Given the description of an element on the screen output the (x, y) to click on. 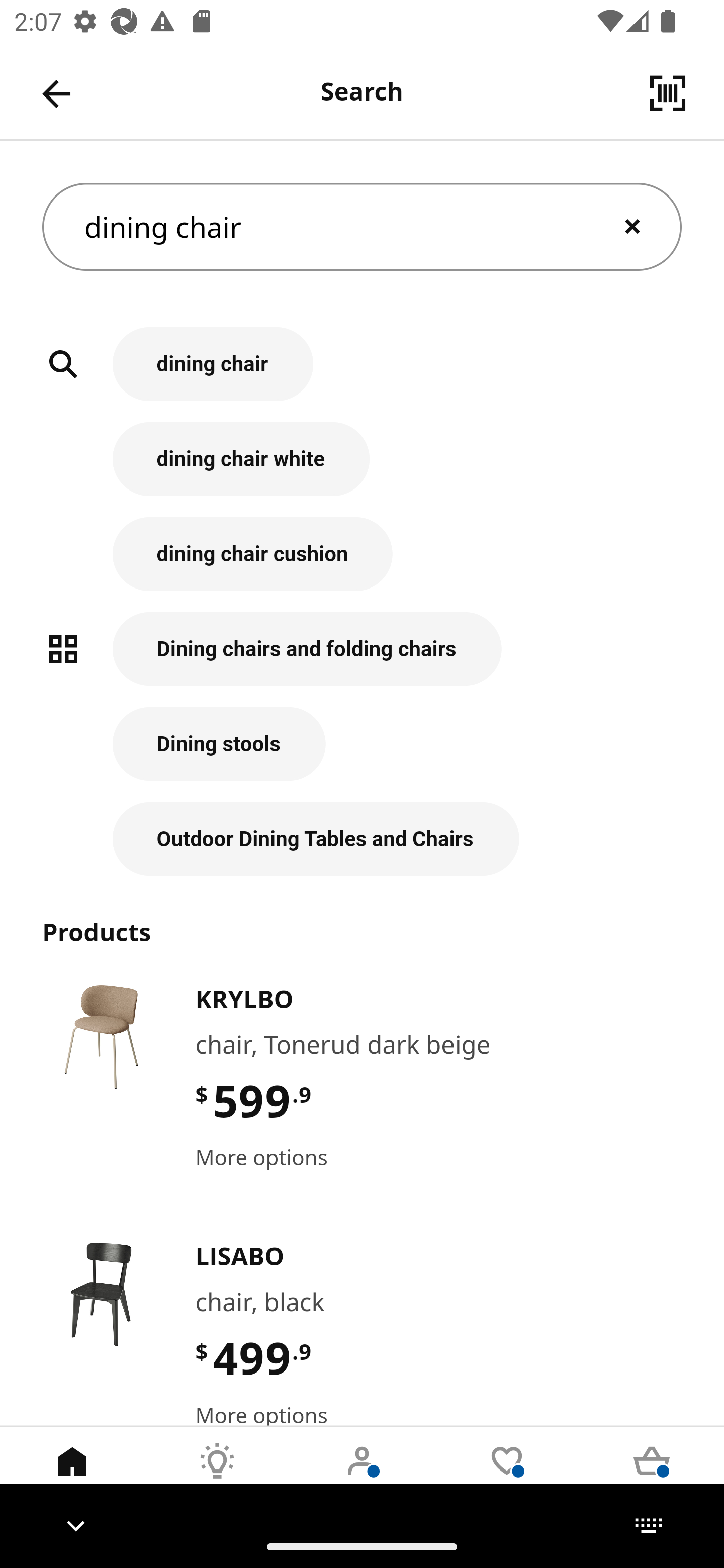
dining chair (361, 227)
dining chair (361, 374)
dining chair white (361, 469)
dining chair cushion (361, 564)
Dining chairs and folding chairs (361, 659)
Dining stools (361, 754)
Outdoor Dining Tables and Chairs (361, 839)
​L​I​S​A​B​O​
chair, black
$
499
.9
More options (361, 1330)
Home
Tab 1 of 5 (72, 1476)
Inspirations
Tab 2 of 5 (216, 1476)
User
Tab 3 of 5 (361, 1476)
Wishlist
Tab 4 of 5 (506, 1476)
Cart
Tab 5 of 5 (651, 1476)
